Given the description of an element on the screen output the (x, y) to click on. 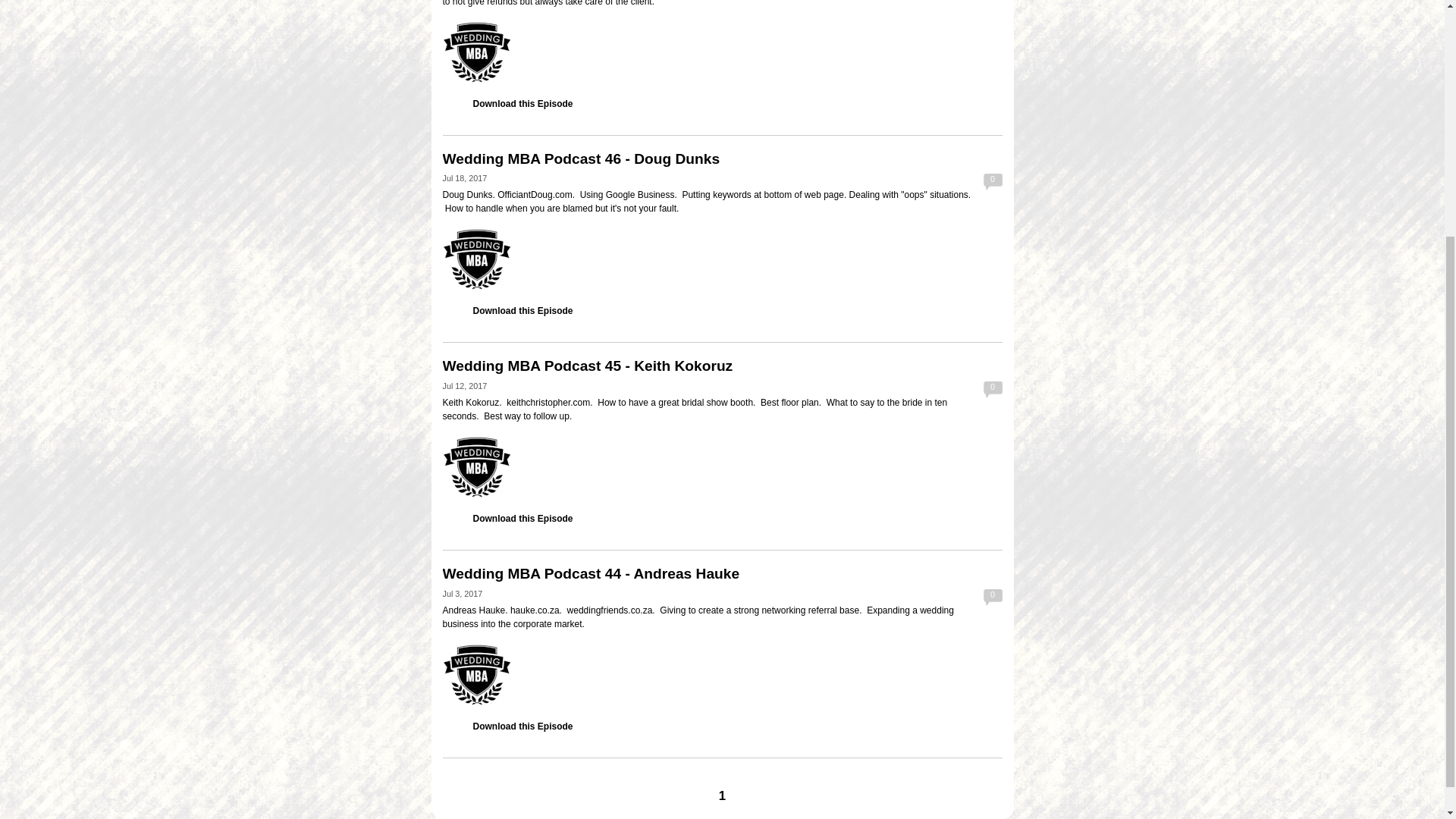
Libsyn Player (722, 466)
Libsyn Player (722, 51)
Libsyn Player (722, 258)
Libsyn Player (722, 673)
